Given the description of an element on the screen output the (x, y) to click on. 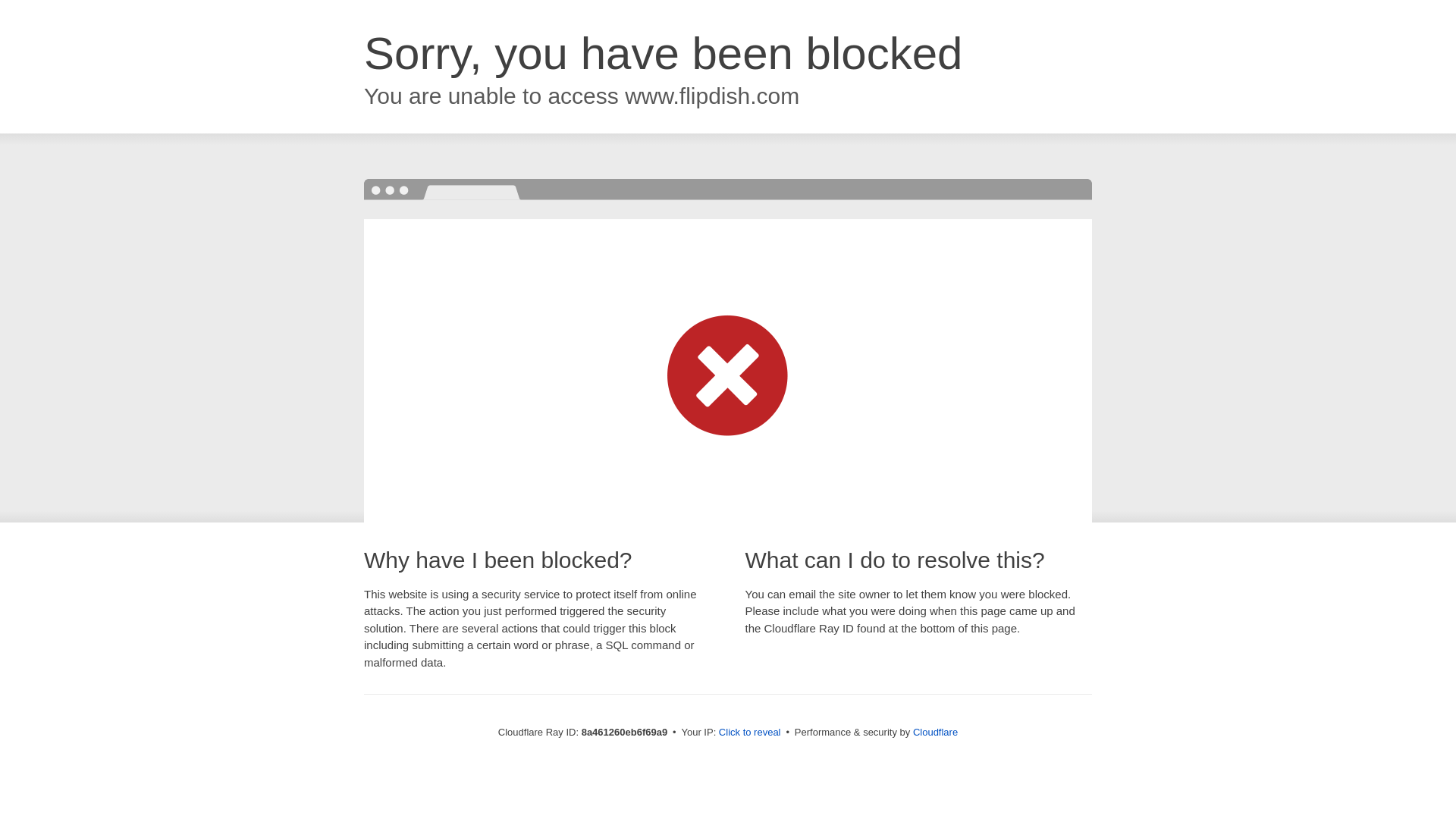
Cloudflare (935, 731)
Click to reveal (749, 732)
